Given the description of an element on the screen output the (x, y) to click on. 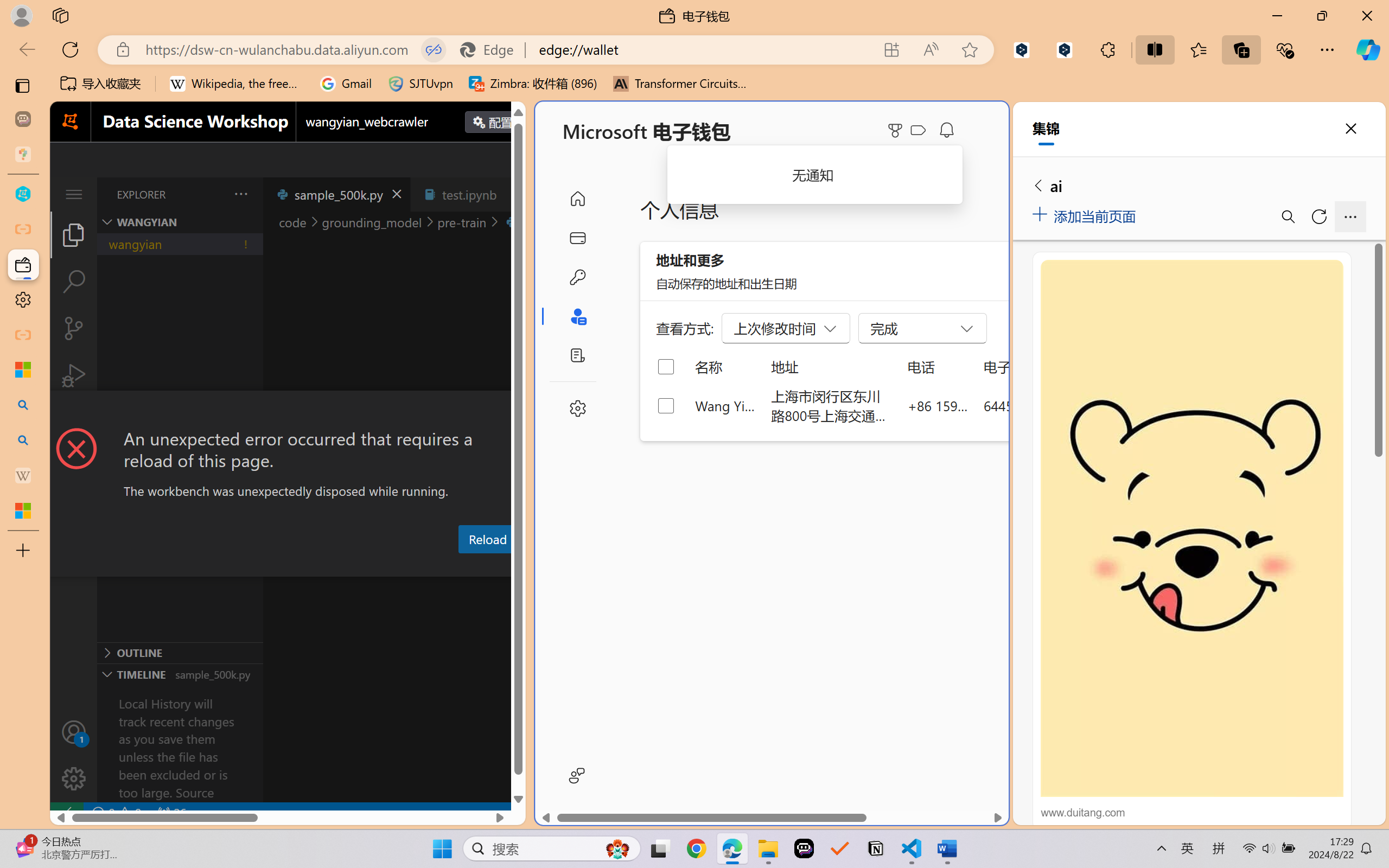
Edge (492, 49)
Extensions (Ctrl+Shift+X) (73, 422)
Class: actions-container (287, 410)
test.ipynb (468, 194)
